Given the description of an element on the screen output the (x, y) to click on. 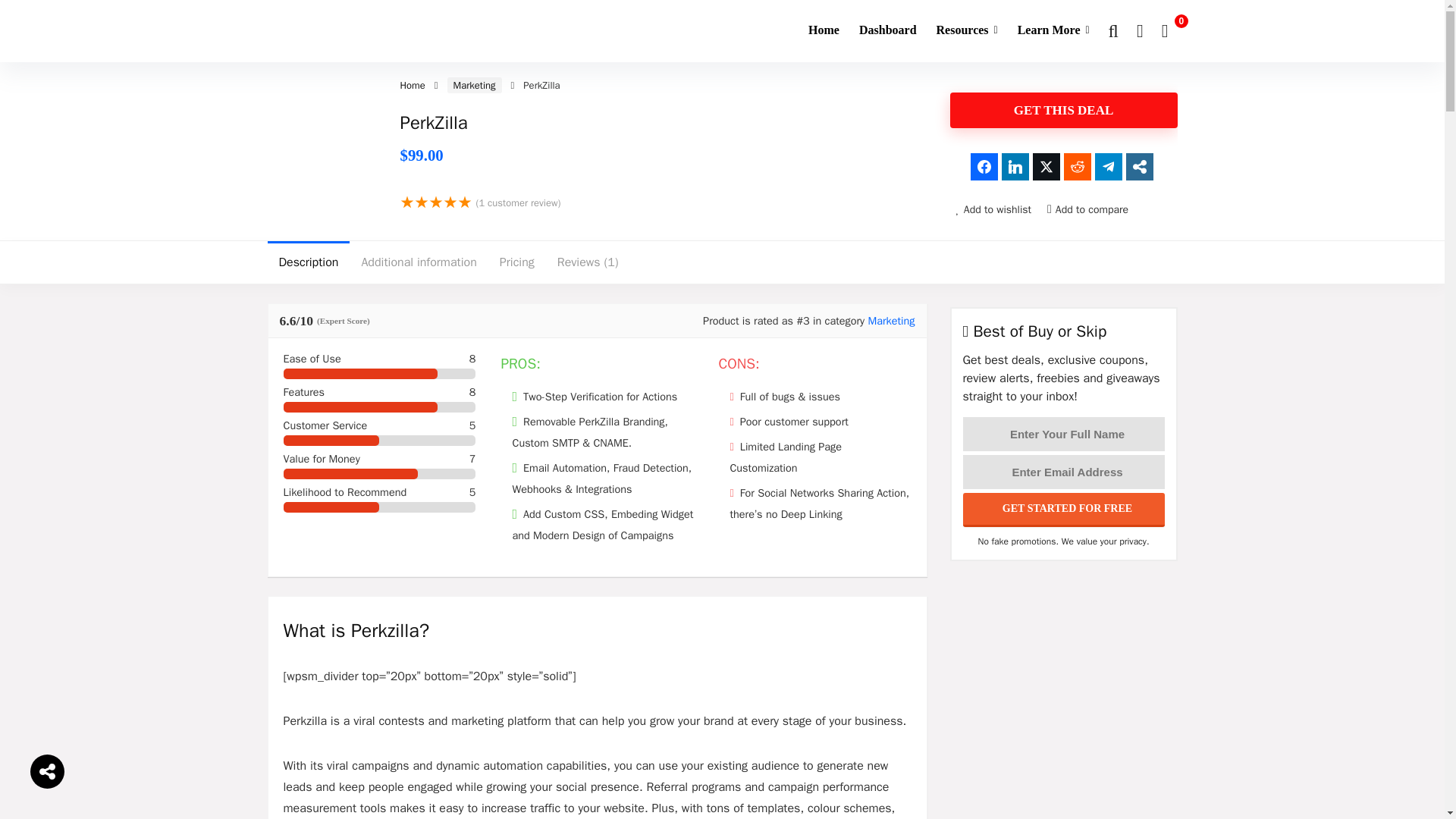
Share on LinkedIn (1014, 166)
Rated 5 out of 5 (435, 202)
Share on Twitter (1045, 166)
GET THIS DEAL (1062, 109)
Share on Telegram (1108, 166)
Share on Reddit (1076, 166)
Share on Facebook (984, 166)
Home (412, 84)
Learn More (1053, 30)
Resources (966, 30)
Dashboard (887, 30)
Home (822, 30)
Get Started For Free (1063, 510)
Share on Share (1139, 166)
Marketing (474, 84)
